Given the description of an element on the screen output the (x, y) to click on. 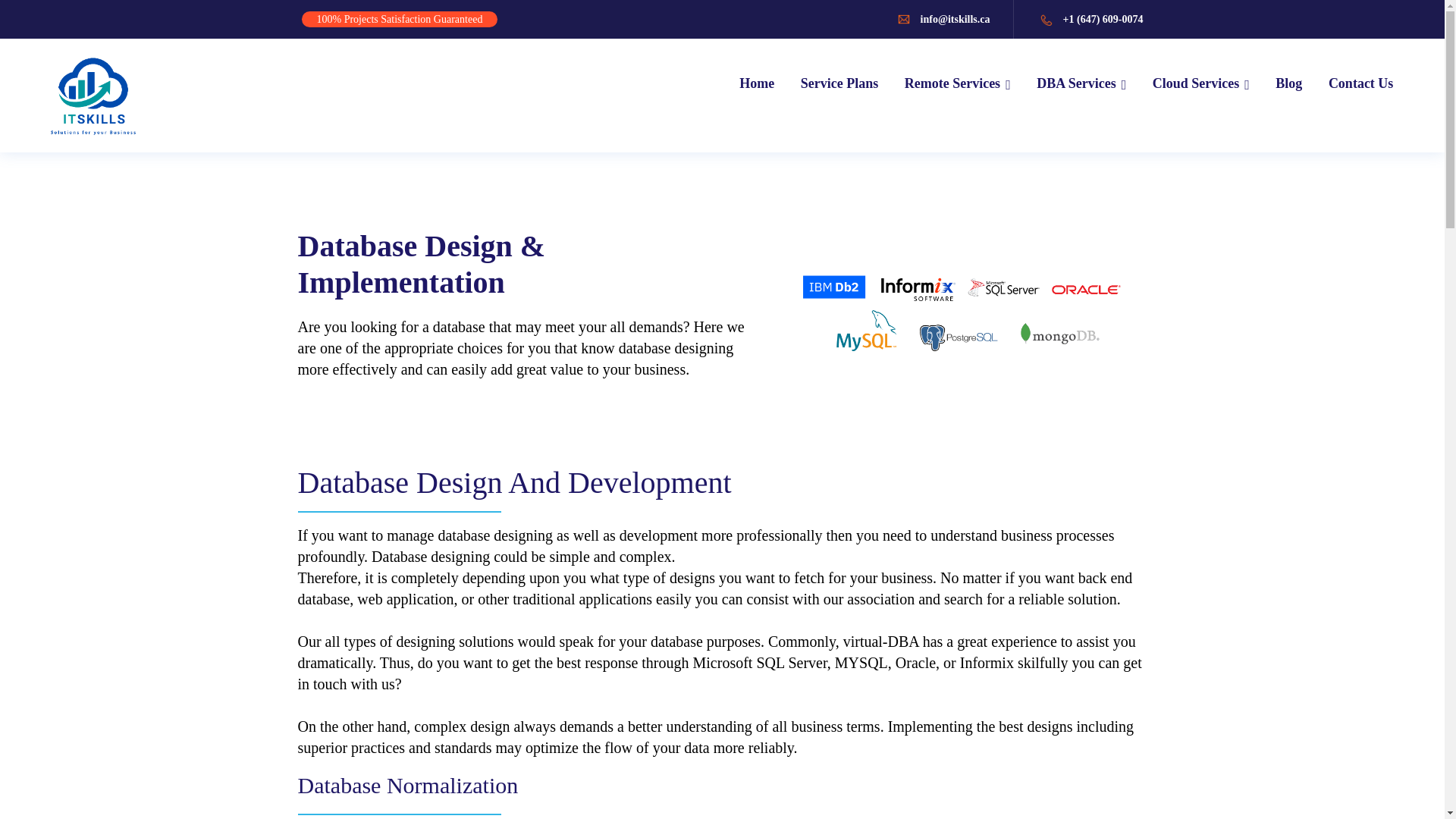
Remote Services (957, 84)
DBA Services (1080, 84)
Cloud Services (1201, 84)
Home (756, 84)
Contact Us (1360, 84)
Blog (1288, 84)
Service Plans (838, 84)
